Given the description of an element on the screen output the (x, y) to click on. 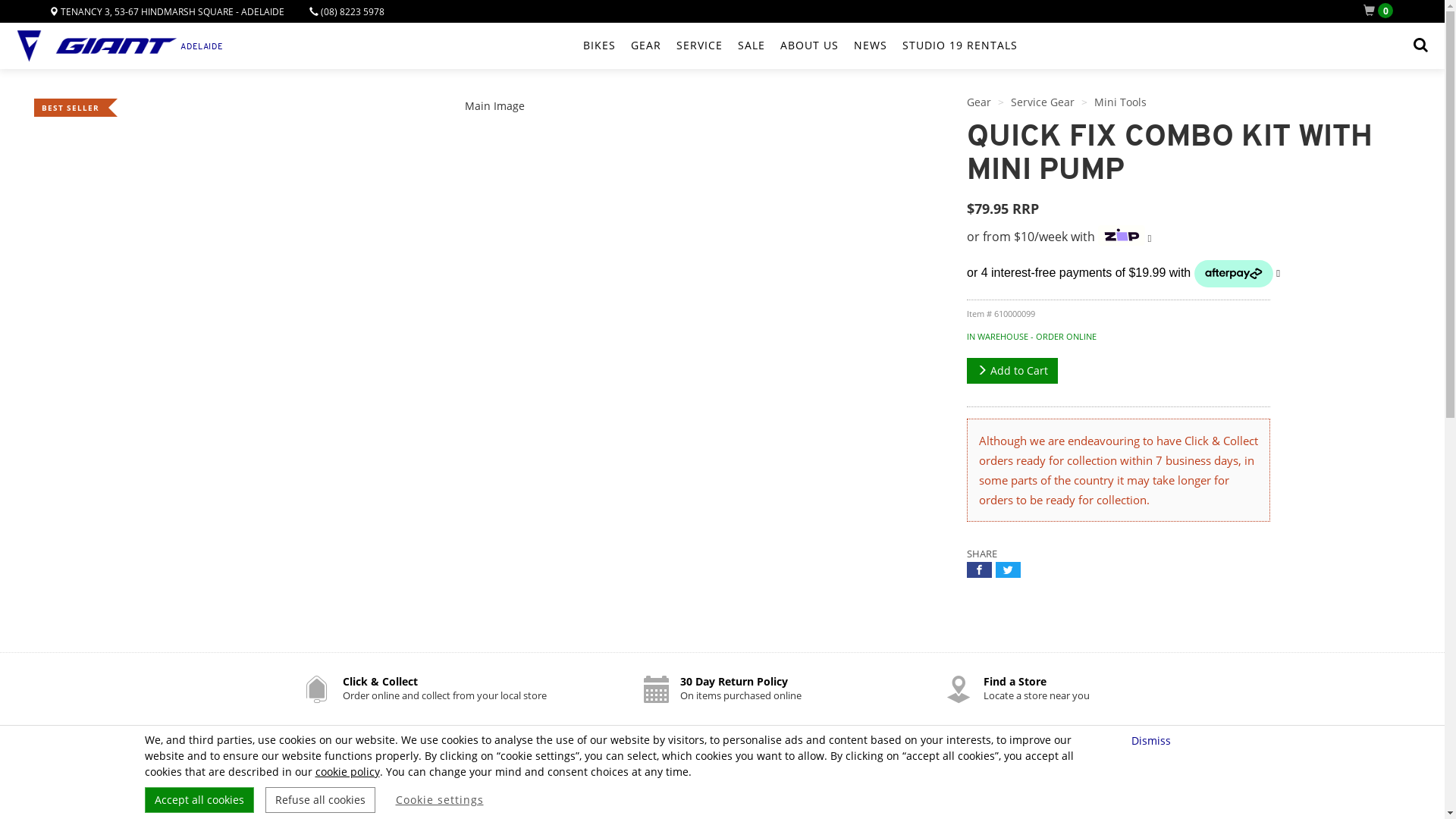
SERVICE Element type: text (699, 45)
Dismiss Element type: text (1152, 740)
Mini Tools Element type: text (1120, 101)
BIKES Element type: text (598, 45)
Click & Collect Element type: text (379, 681)
30 Day Return Policy Element type: text (733, 681)
Add to Cart Element type: text (1011, 370)
cookie policy Element type: text (347, 771)
0 item(s) in cart
0
Total amount Element type: text (1381, 10)
NEWS Element type: text (870, 45)
Cookie settings Element type: text (439, 799)
STUDIO 19 RENTALS Element type: text (959, 45)
FEATURES Element type: text (722, 757)
SALE Element type: text (750, 45)
Service Gear Element type: text (1042, 101)
ABOUT US Element type: text (808, 45)
GEAR Element type: text (645, 45)
Refuse all cookies Element type: text (320, 799)
pdp_messaging Element type: hover (1188, 273)
Find a Store Element type: text (1013, 681)
Gear Element type: text (978, 101)
Accept all cookies Element type: text (198, 799)
